Given the description of an element on the screen output the (x, y) to click on. 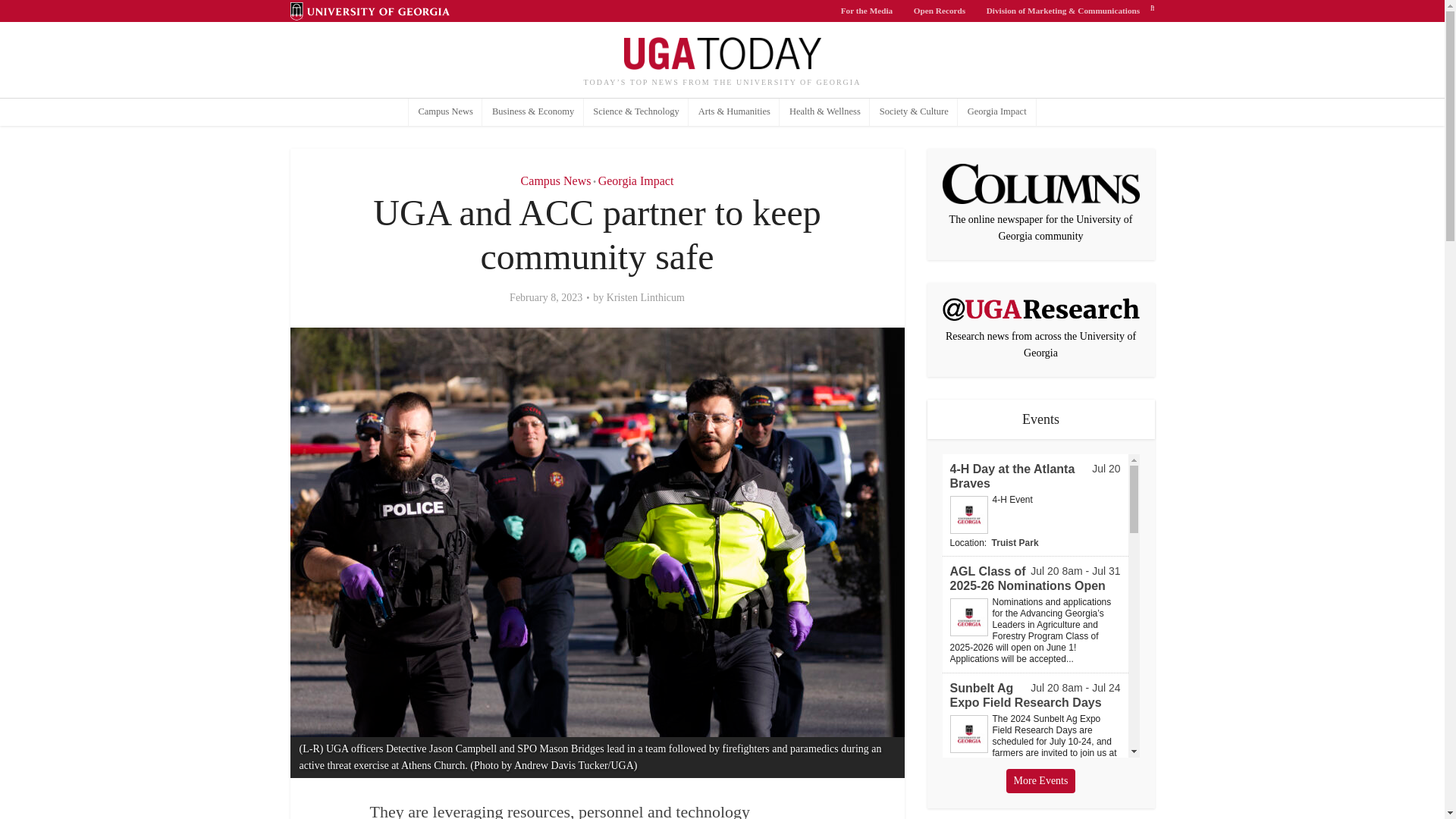
Campus News (556, 180)
Georgia Impact (636, 180)
For the Media (866, 10)
Georgia Impact (996, 112)
Open Records (939, 10)
Kristen Linthicum (645, 297)
Campus News (446, 112)
